Given the description of an element on the screen output the (x, y) to click on. 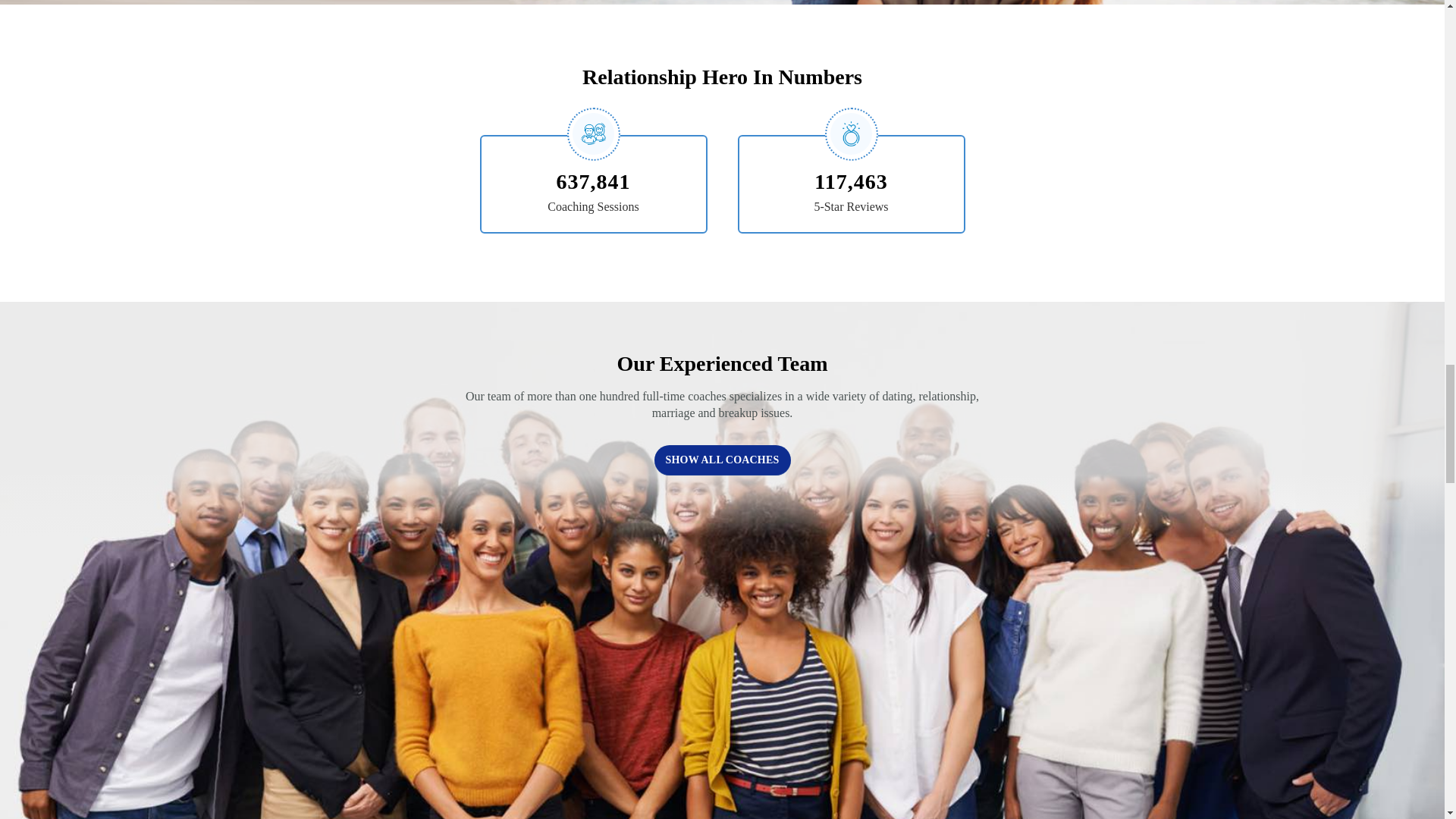
SHOW ALL COACHES (721, 448)
SHOW ALL COACHES (721, 460)
